Given the description of an element on the screen output the (x, y) to click on. 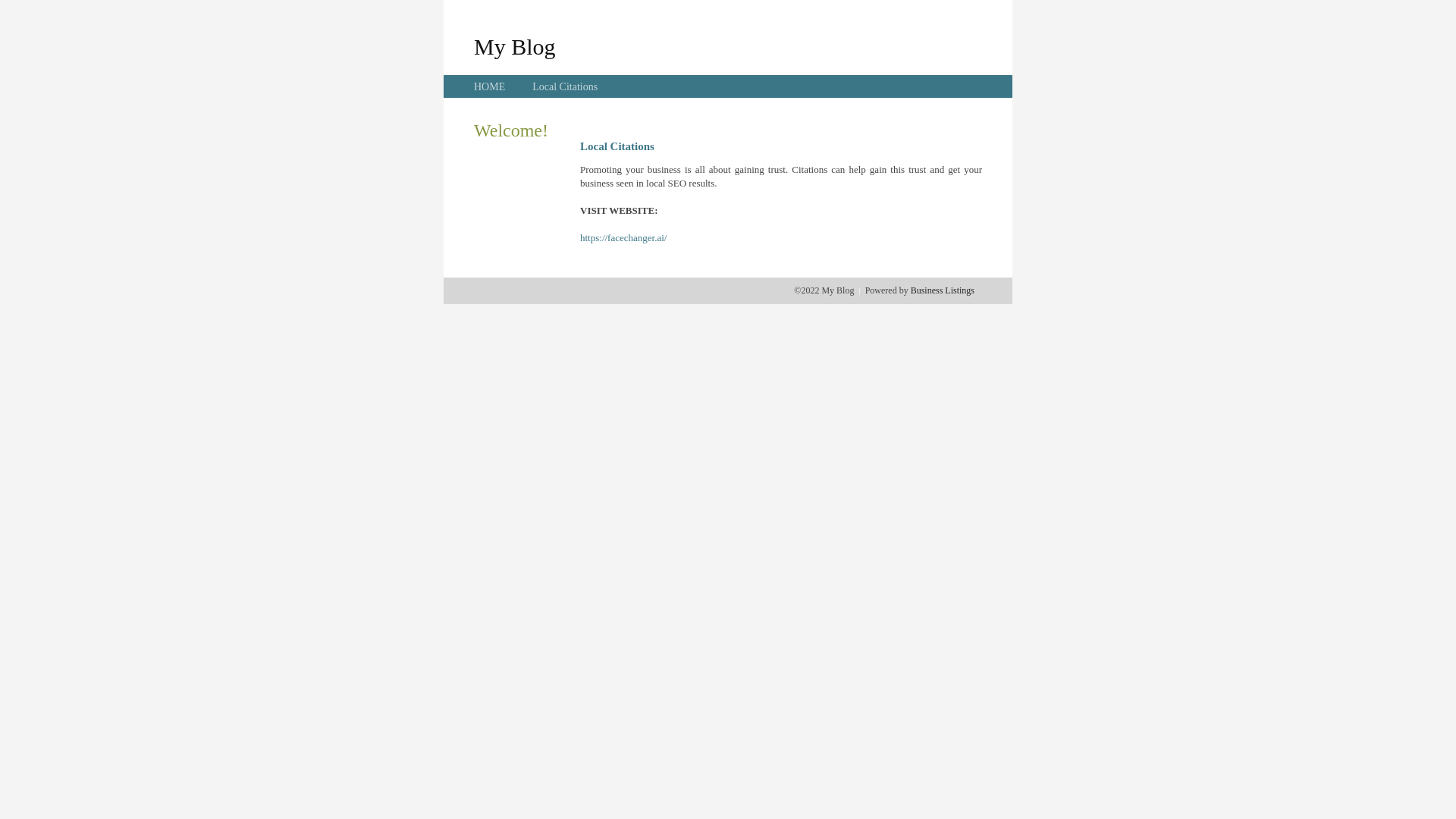
HOME Element type: text (489, 86)
My Blog Element type: text (514, 46)
Business Listings Element type: text (942, 290)
Local Citations Element type: text (564, 86)
https://facechanger.ai/ Element type: text (623, 237)
